Given the description of an element on the screen output the (x, y) to click on. 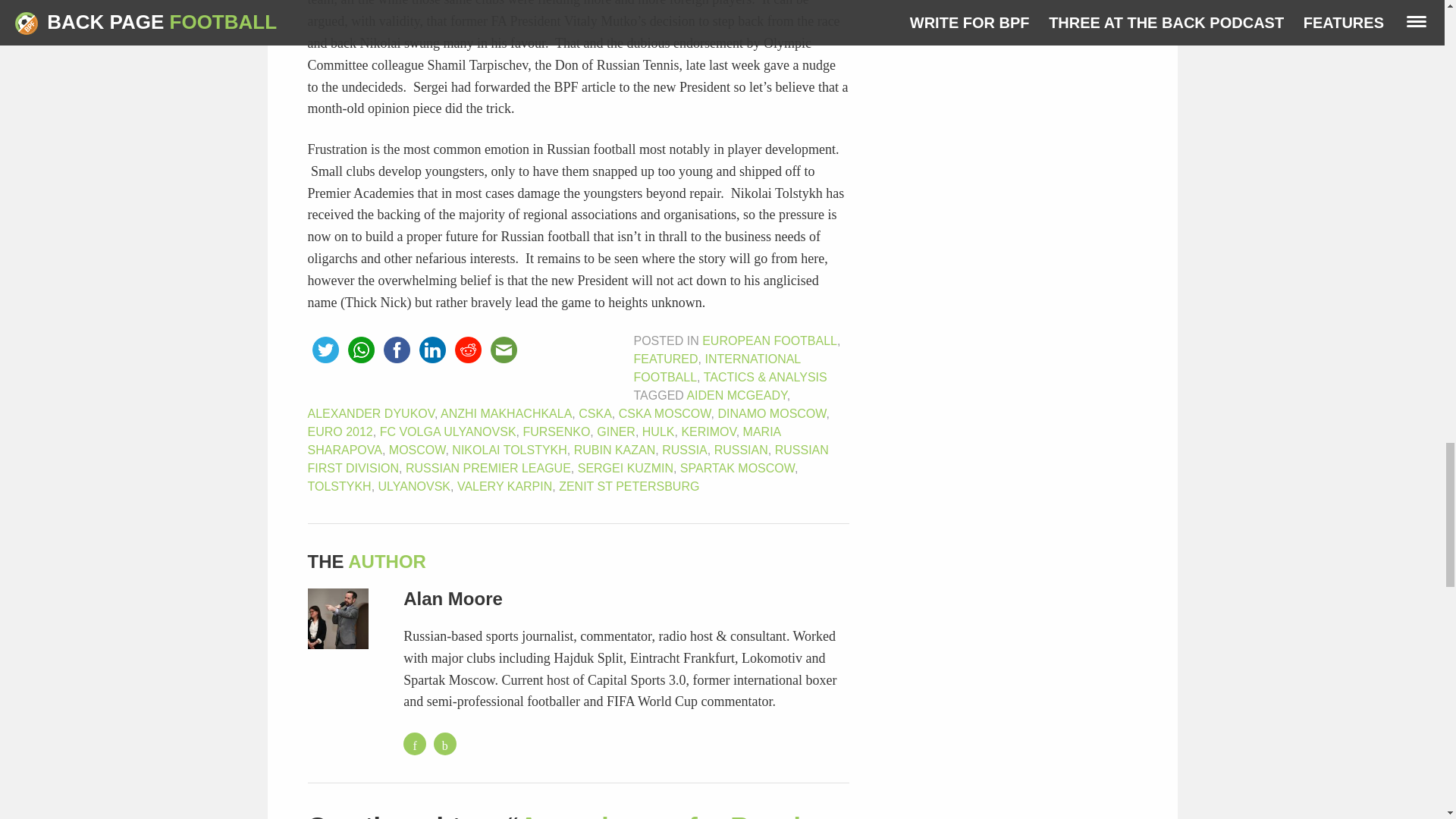
whatsapp (360, 349)
facebook (396, 349)
linkedin (431, 349)
email (502, 349)
twitter (325, 349)
reddit (467, 349)
